Given the description of an element on the screen output the (x, y) to click on. 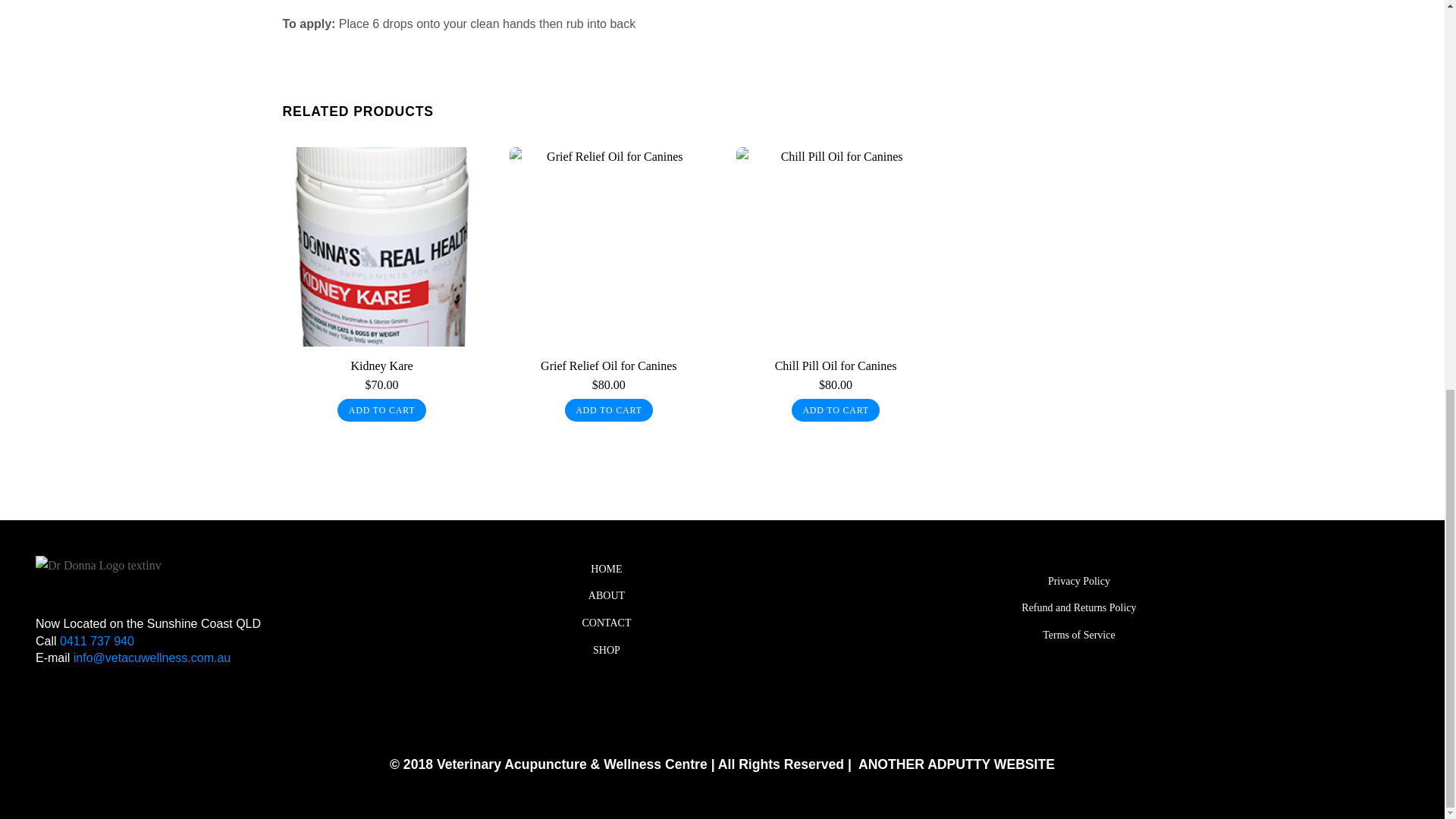
HOME (606, 569)
Privacy Policy (1078, 581)
Grief Relief Oil for Canines (608, 364)
ADD TO CART (381, 409)
CONTACT (606, 623)
ABOUT (606, 596)
0411 737 940 (94, 640)
Refund and Returns Policy (1078, 608)
ADD TO CART (1078, 608)
